Given the description of an element on the screen output the (x, y) to click on. 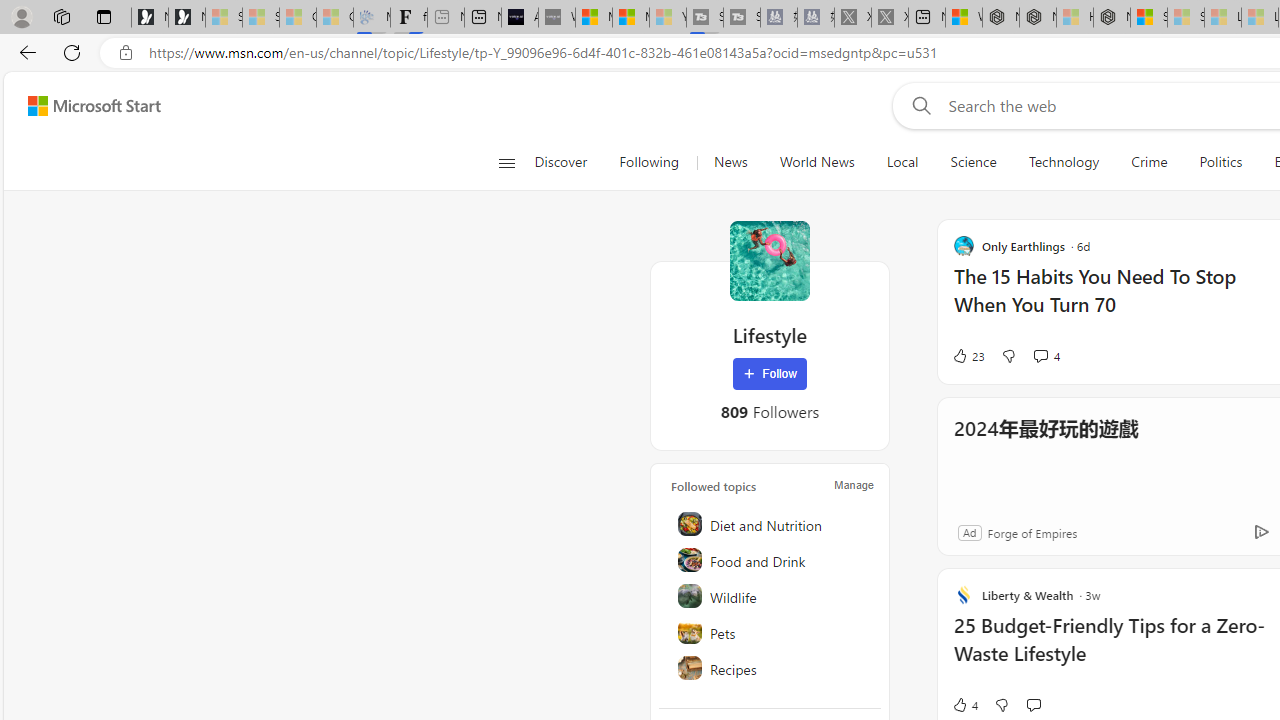
Diet and Nutrition (771, 524)
Food and Drink (771, 560)
Dislike (1001, 704)
Open navigation menu (506, 162)
Microsoft Start (630, 17)
Skip to content (86, 105)
Science (973, 162)
Microsoft Start (94, 105)
25 Budget-Friendly Tips for a Zero-Waste Lifestyle (1115, 650)
23 Like (968, 355)
